Given the description of an element on the screen output the (x, y) to click on. 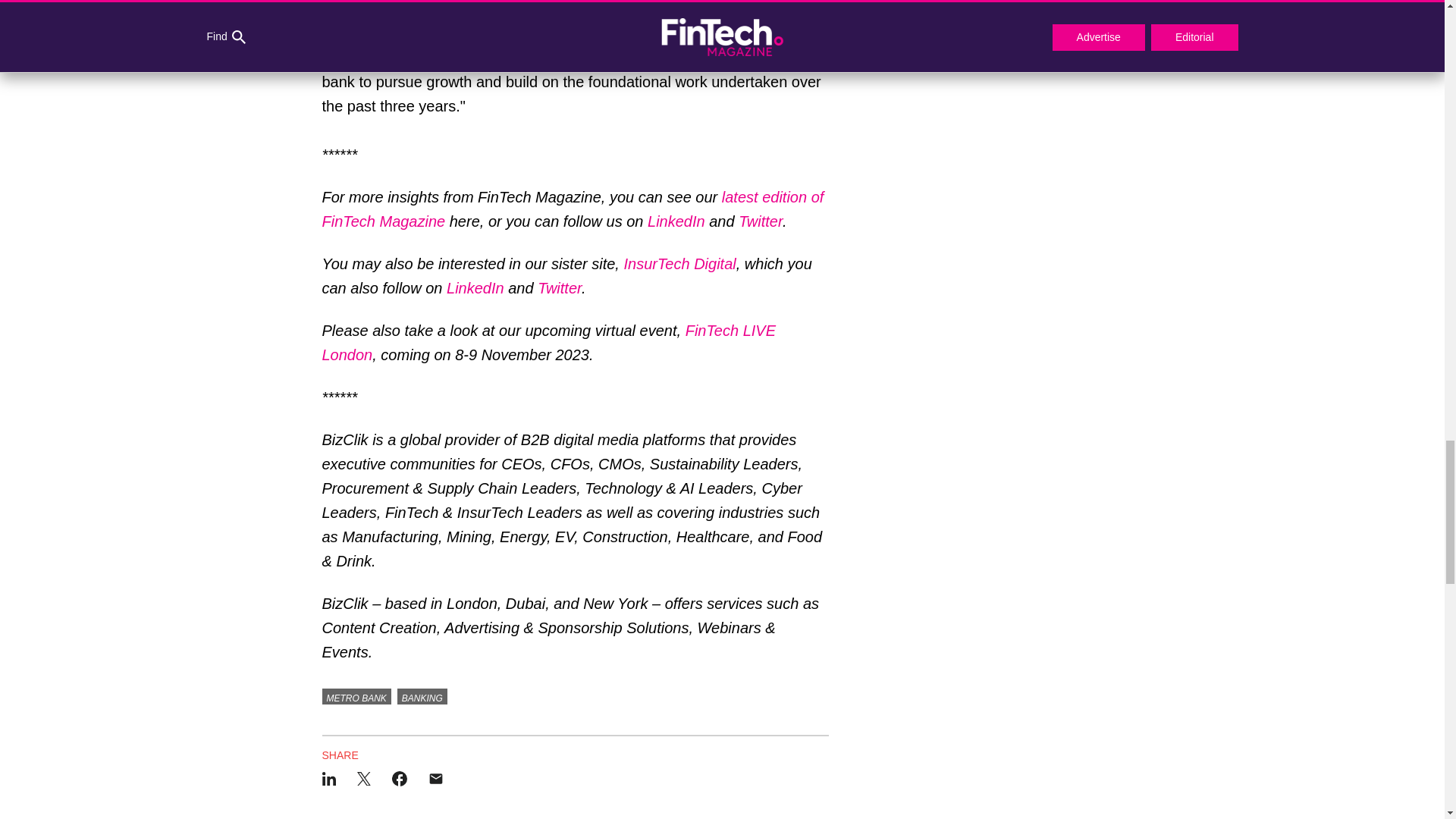
FinTech LIVE London (548, 342)
Twitter (760, 221)
LinkedIn (474, 288)
InsurTech Digital (679, 263)
BANKING (421, 696)
METRO BANK (355, 696)
LinkedIn (675, 221)
latest edition of FinTech Magazine (572, 209)
Twitter (558, 288)
